Given the description of an element on the screen output the (x, y) to click on. 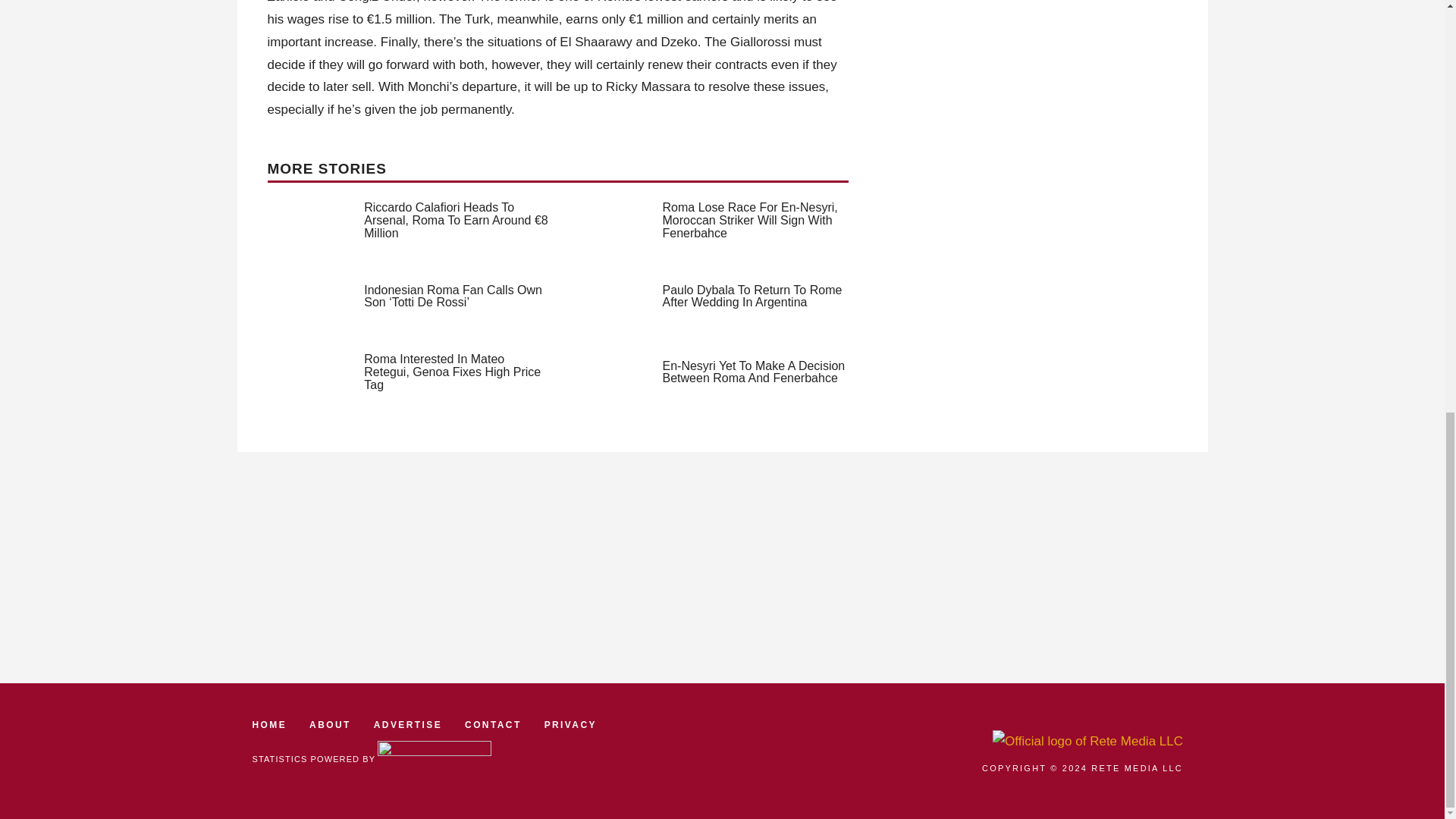
ADVERTISE (408, 725)
HOME (268, 725)
Roma Interested In Mateo Retegui, Genoa Fixes High Price Tag (452, 371)
PRIVACY (570, 725)
ABOUT (329, 725)
En-Nesyri Yet To Make A Decision Between Roma And Fenerbahce (753, 371)
Paulo Dybala To Return To Rome After Wedding In Argentina (752, 296)
CONTACT (492, 725)
